Given the description of an element on the screen output the (x, y) to click on. 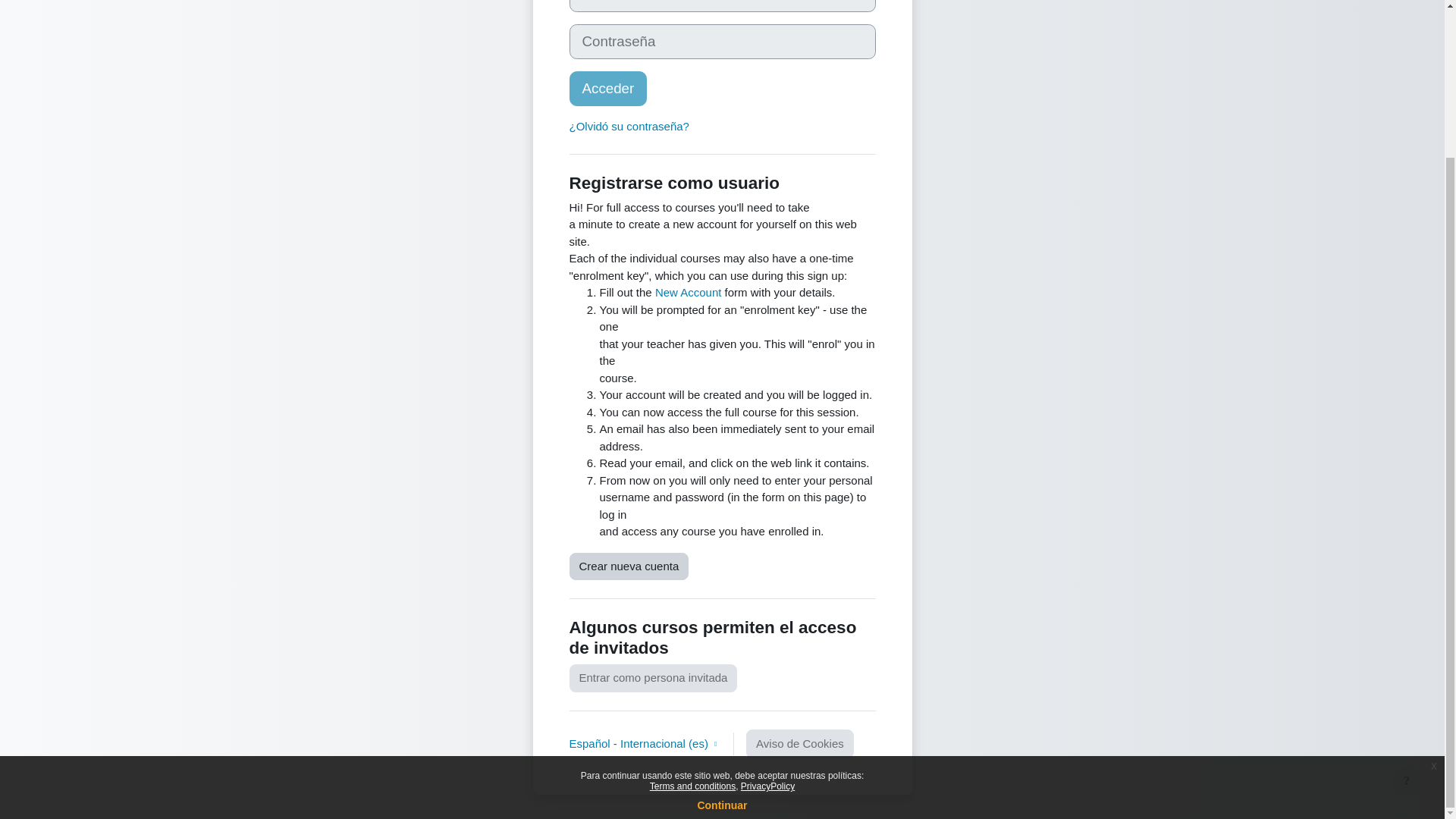
Aviso de Cookies (799, 744)
New Account (688, 291)
Crear nueva cuenta (628, 566)
Continuar (721, 621)
PrivacyPolicy (767, 602)
Entrar como persona invitada (652, 678)
Terms and conditions (692, 602)
Acceder (607, 88)
